Given the description of an element on the screen output the (x, y) to click on. 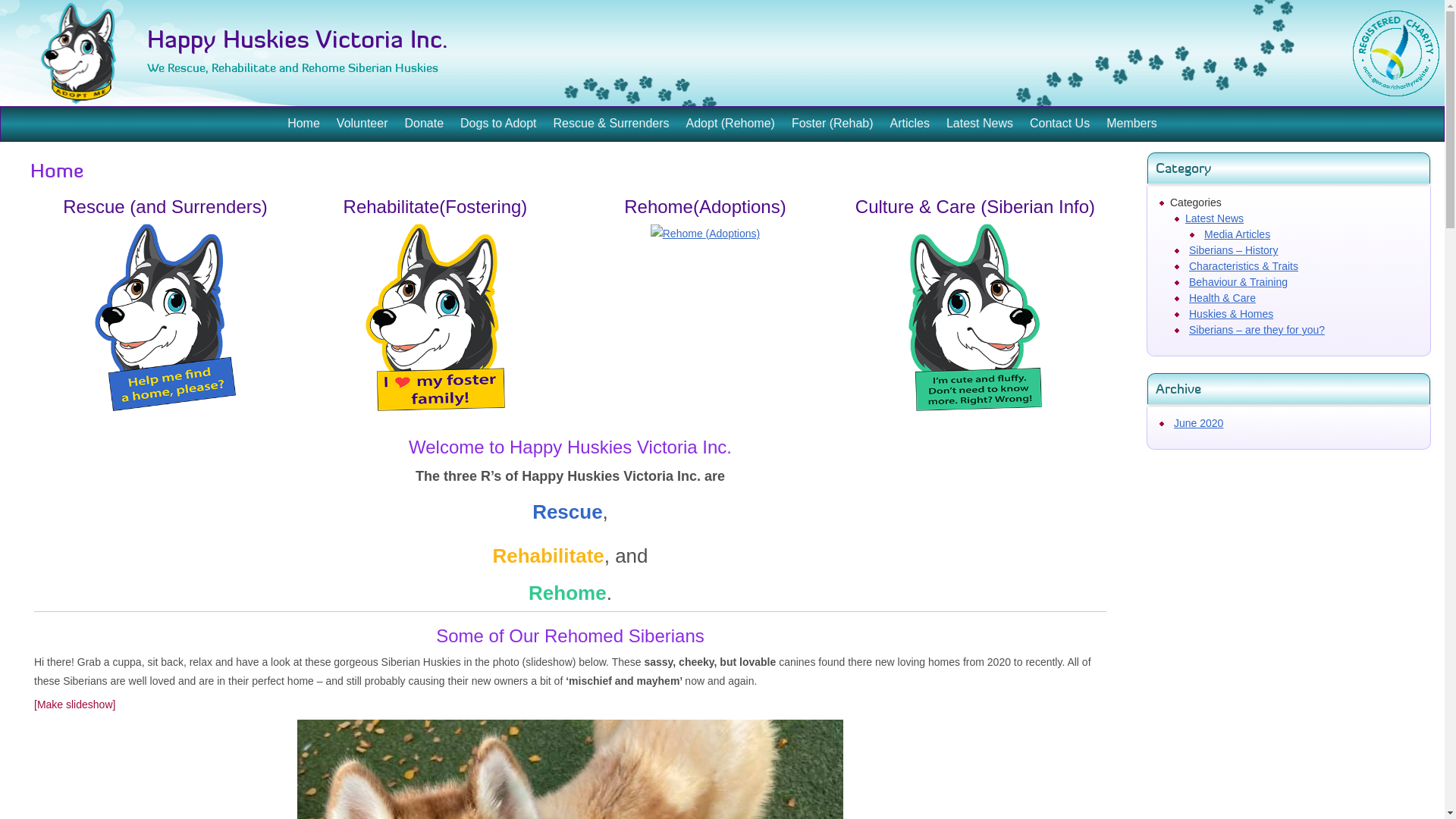
Rescue & Surrenders Element type: text (611, 123)
Rescue (and Surrenders) Element type: text (164, 206)
Adopt (Rehome) Element type: text (730, 123)
Happy Huskies Victoria Inc. Element type: text (297, 38)
Rehome(Adoptions) Element type: text (704, 206)
Characteristics & Traits Element type: text (1243, 266)
Members Element type: text (1131, 123)
Health & Care Element type: text (1222, 297)
Behaviour & Training Element type: text (1238, 282)
Contact Us Element type: text (1059, 123)
Home Element type: text (303, 123)
Huskies & Homes Element type: text (1231, 313)
Latest News Element type: text (1214, 218)
Foster (Rehab) Element type: text (832, 123)
Dogs to Adopt Element type: text (498, 123)
Articles Element type: text (909, 123)
Latest News Element type: text (979, 123)
Media Articles Element type: text (1237, 234)
Rehabilitate(Fostering) Element type: text (435, 206)
June 2020 Element type: text (1198, 423)
Donate Element type: text (423, 123)
Culture & Care (Siberian Info) Element type: text (975, 206)
Volunteer Element type: text (362, 123)
